Given the description of an element on the screen output the (x, y) to click on. 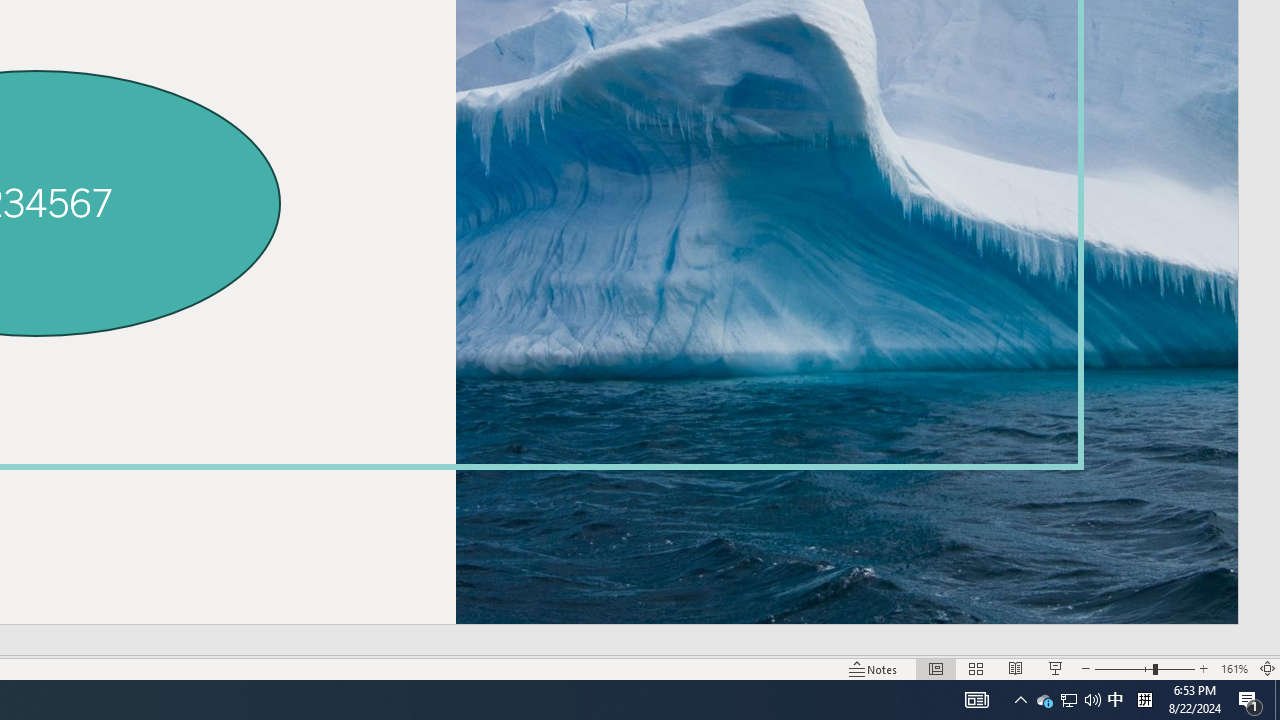
Zoom 161% (1234, 668)
